Given the description of an element on the screen output the (x, y) to click on. 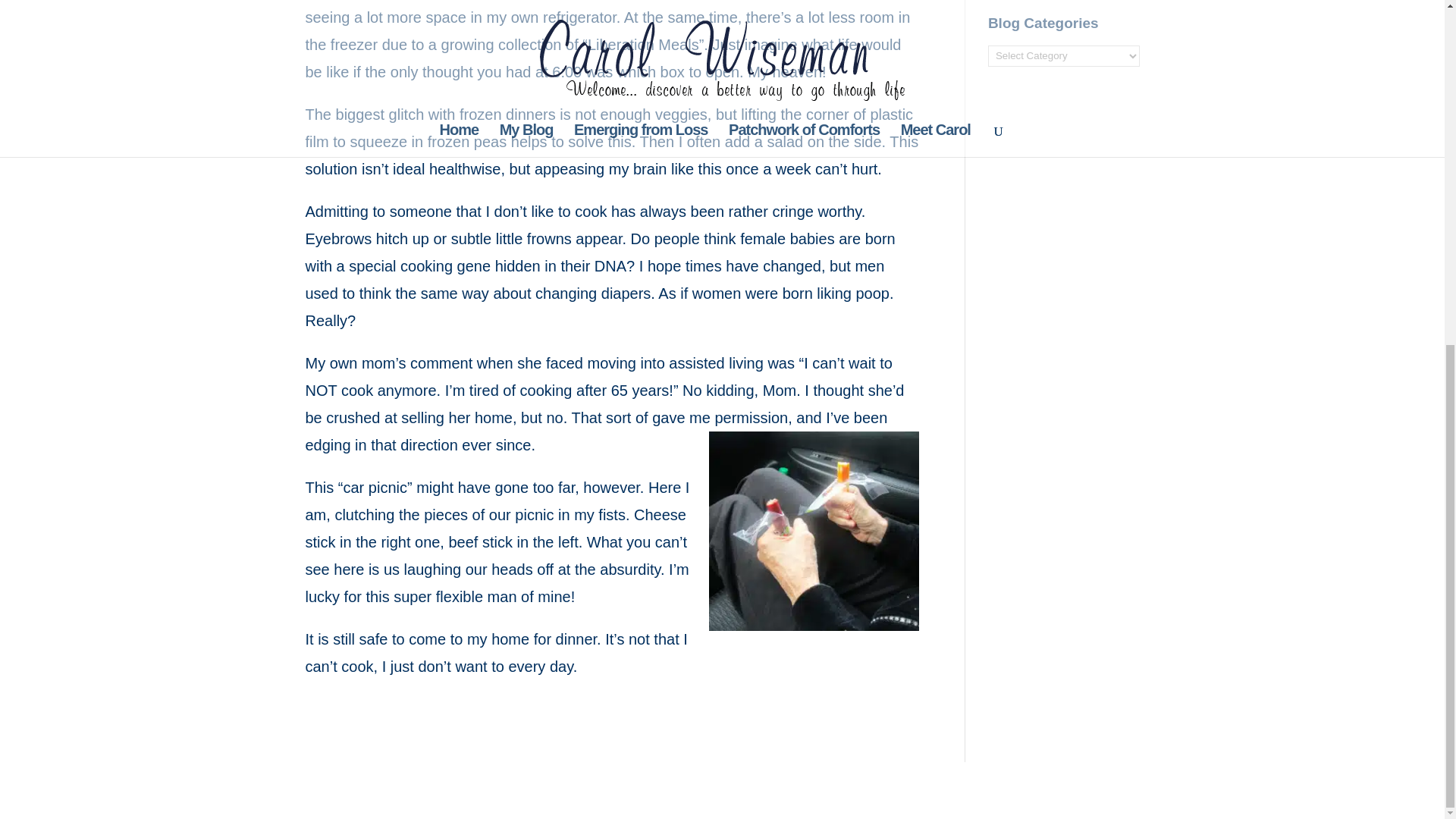
Dear Kitchen, I Bid You Adieu! 2 (813, 530)
